Given the description of an element on the screen output the (x, y) to click on. 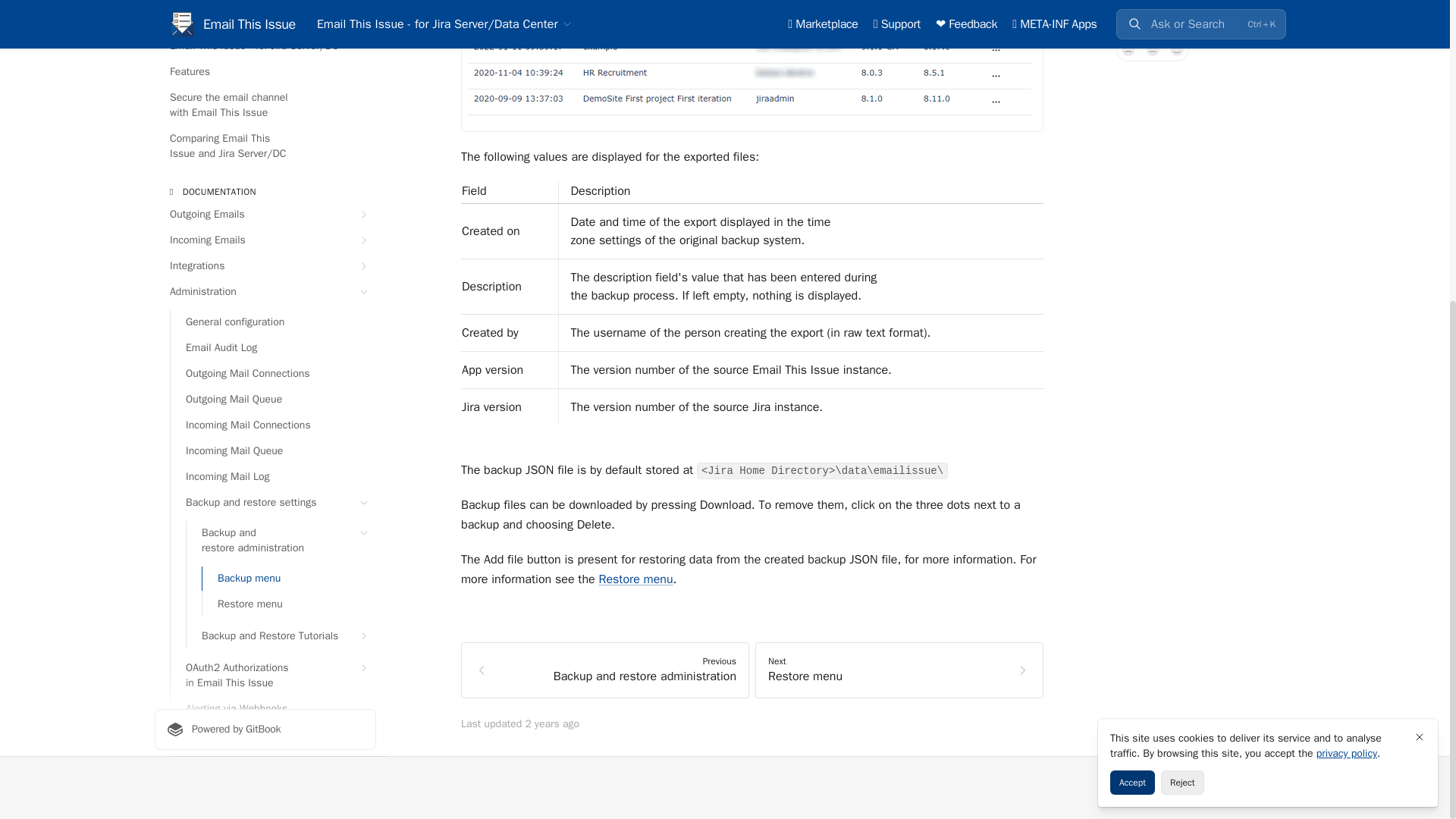
Close (1419, 260)
